Given the description of an element on the screen output the (x, y) to click on. 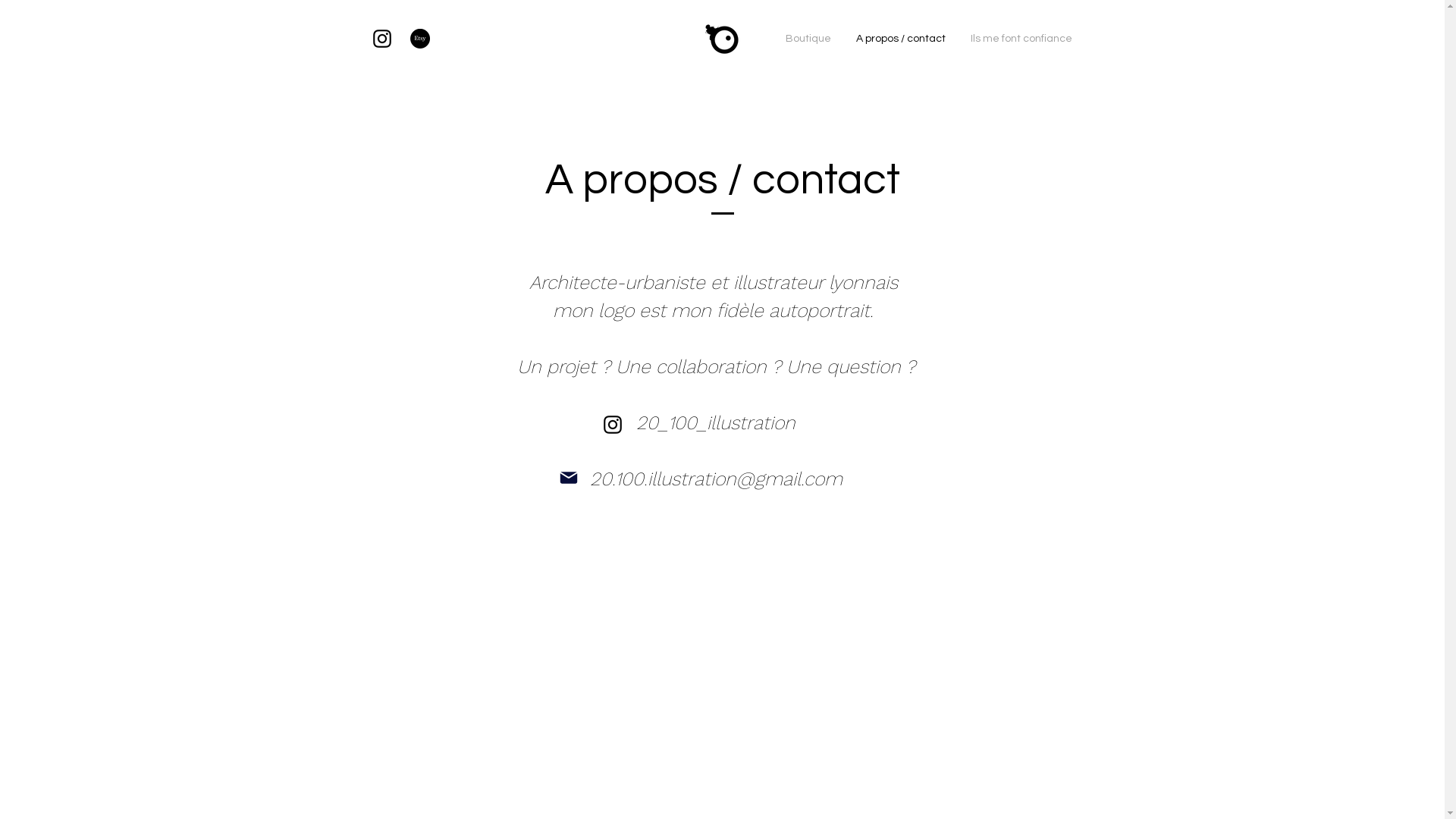
20.100.illustration@gmail.com Element type: text (715, 478)
Logos-02.png Element type: hover (721, 38)
Boutique Element type: text (807, 38)
A propos / contact Element type: text (900, 38)
Ils me font confiance Element type: text (1021, 38)
